Given the description of an element on the screen output the (x, y) to click on. 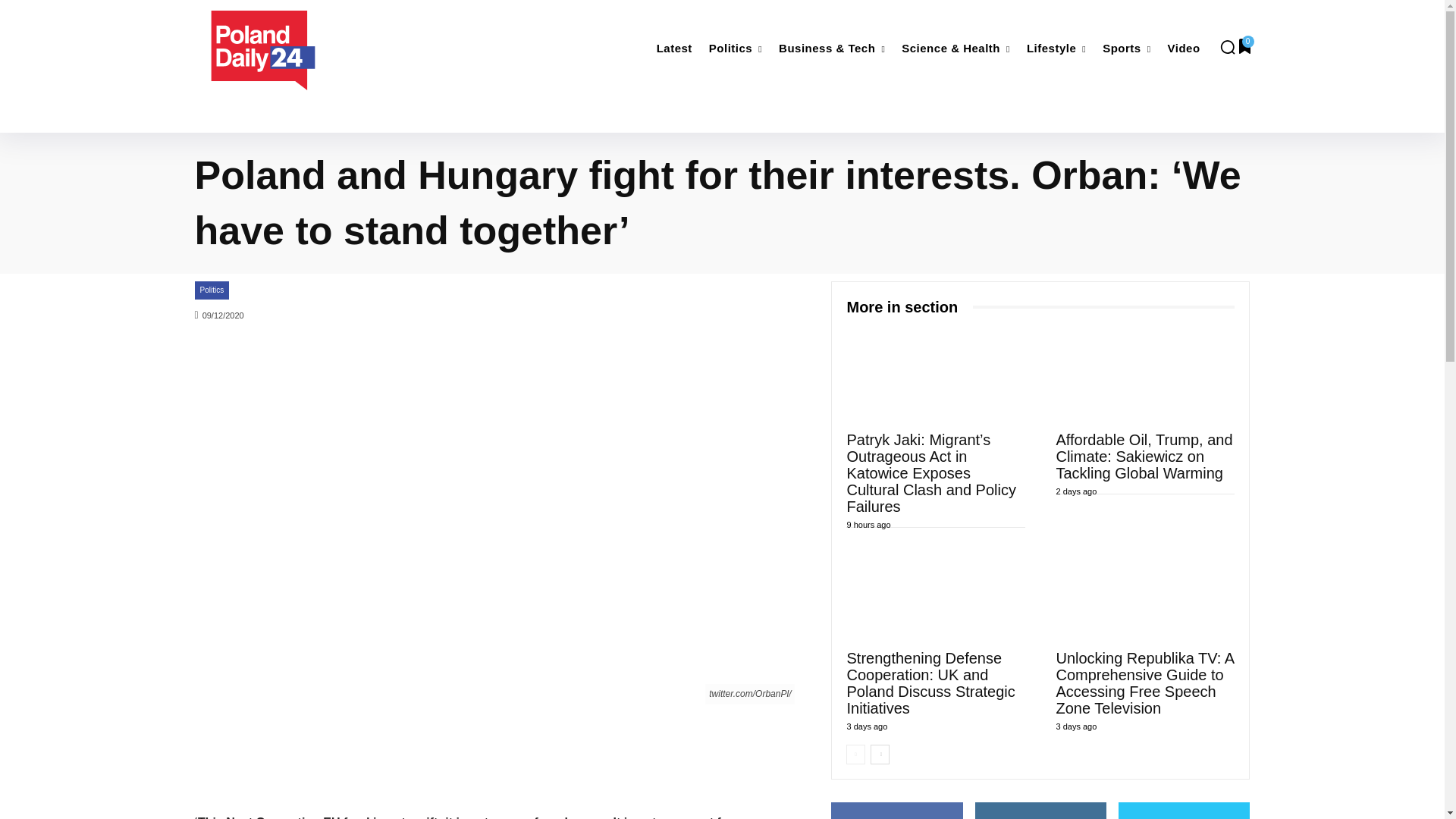
Politics (735, 48)
